Given the description of an element on the screen output the (x, y) to click on. 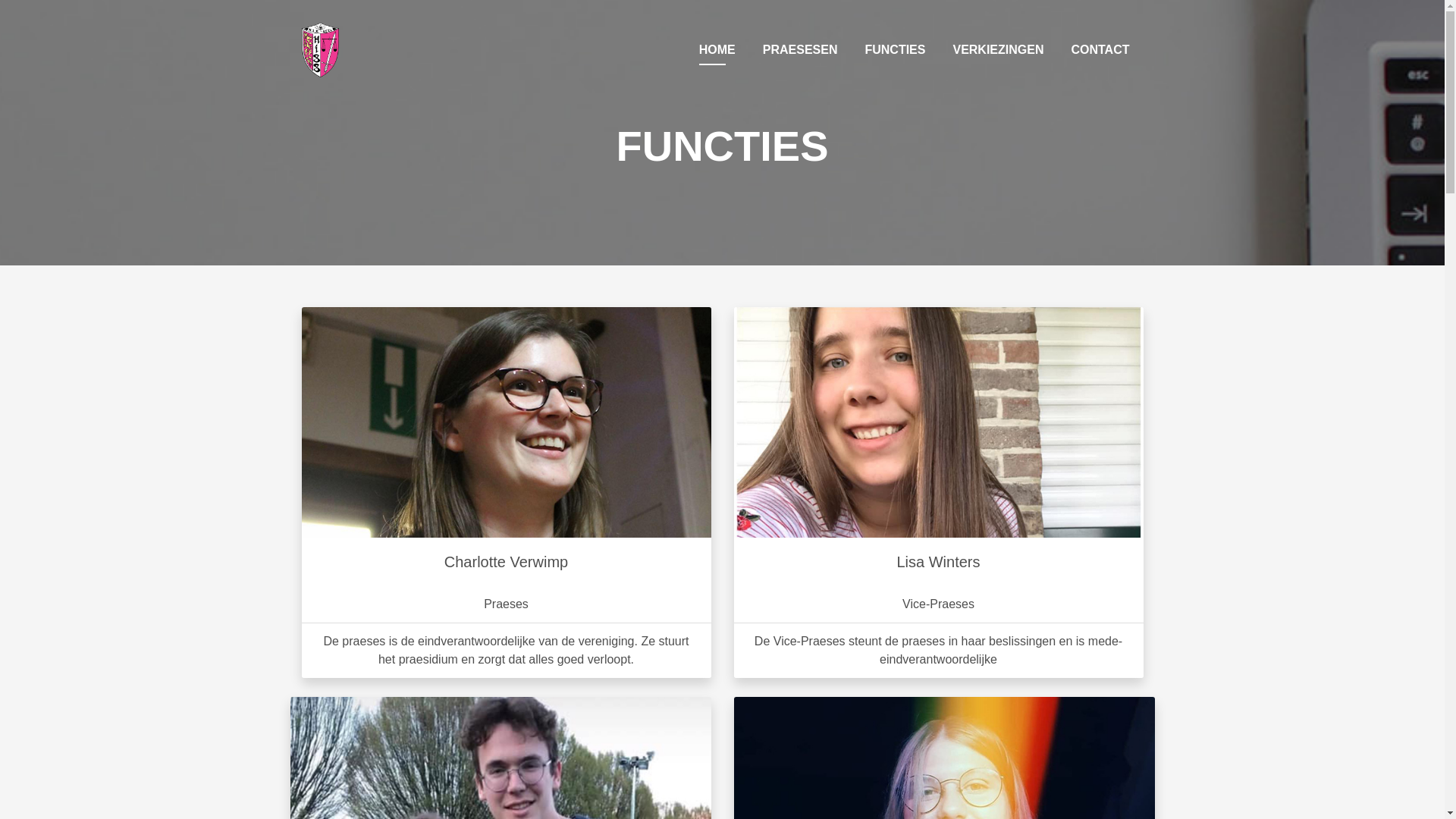
PRAESESEN Element type: text (800, 49)
VERKIEZINGEN Element type: text (997, 49)
CONTACT Element type: text (1099, 49)
FUNCTIES Element type: text (894, 49)
HOME Element type: text (717, 49)
